Given the description of an element on the screen output the (x, y) to click on. 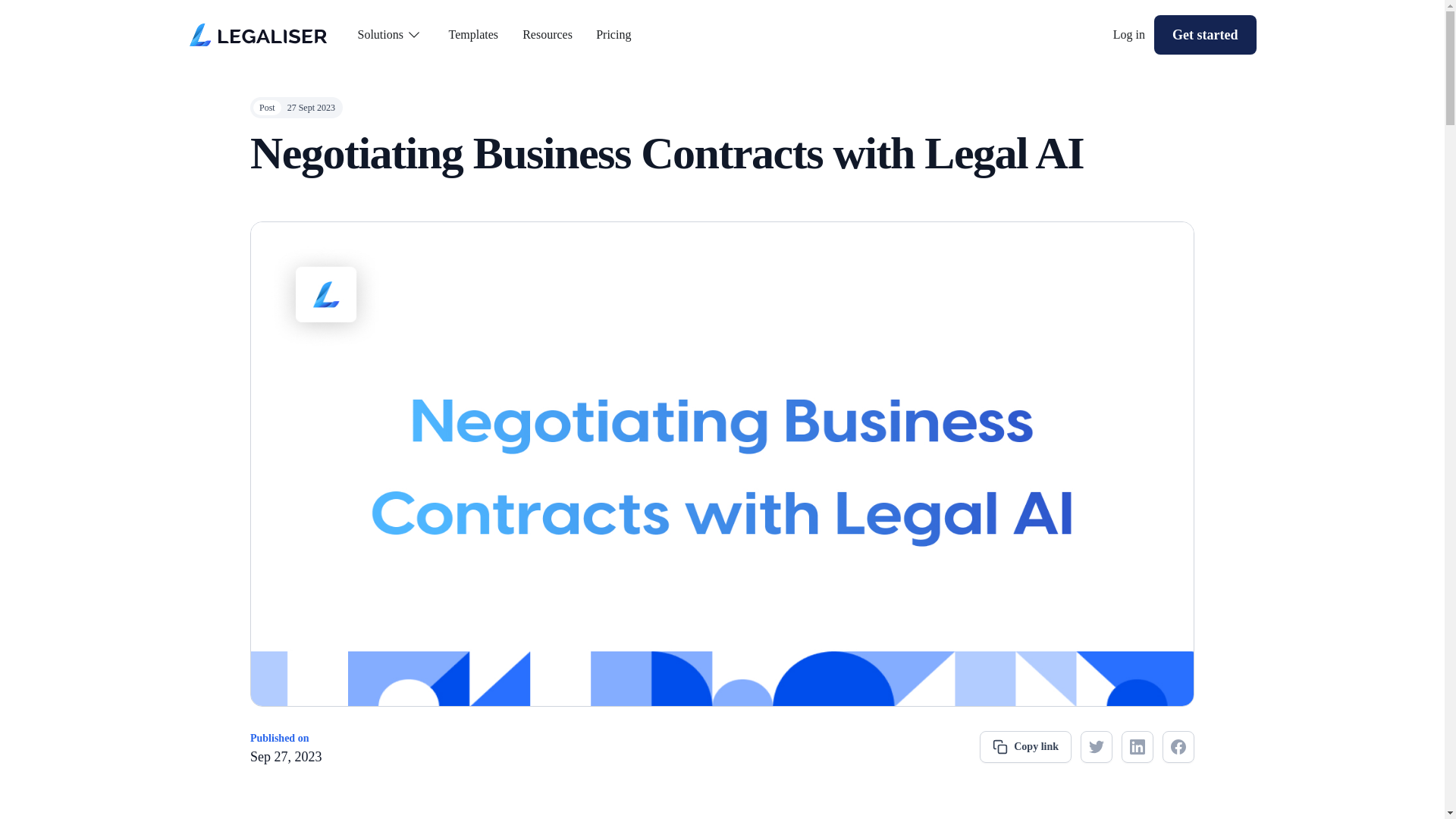
Resources (548, 34)
Get started (1204, 34)
Log in (1128, 34)
Copy link (1025, 746)
Templates (475, 34)
Solutions (395, 34)
Pricing (614, 34)
